Given the description of an element on the screen output the (x, y) to click on. 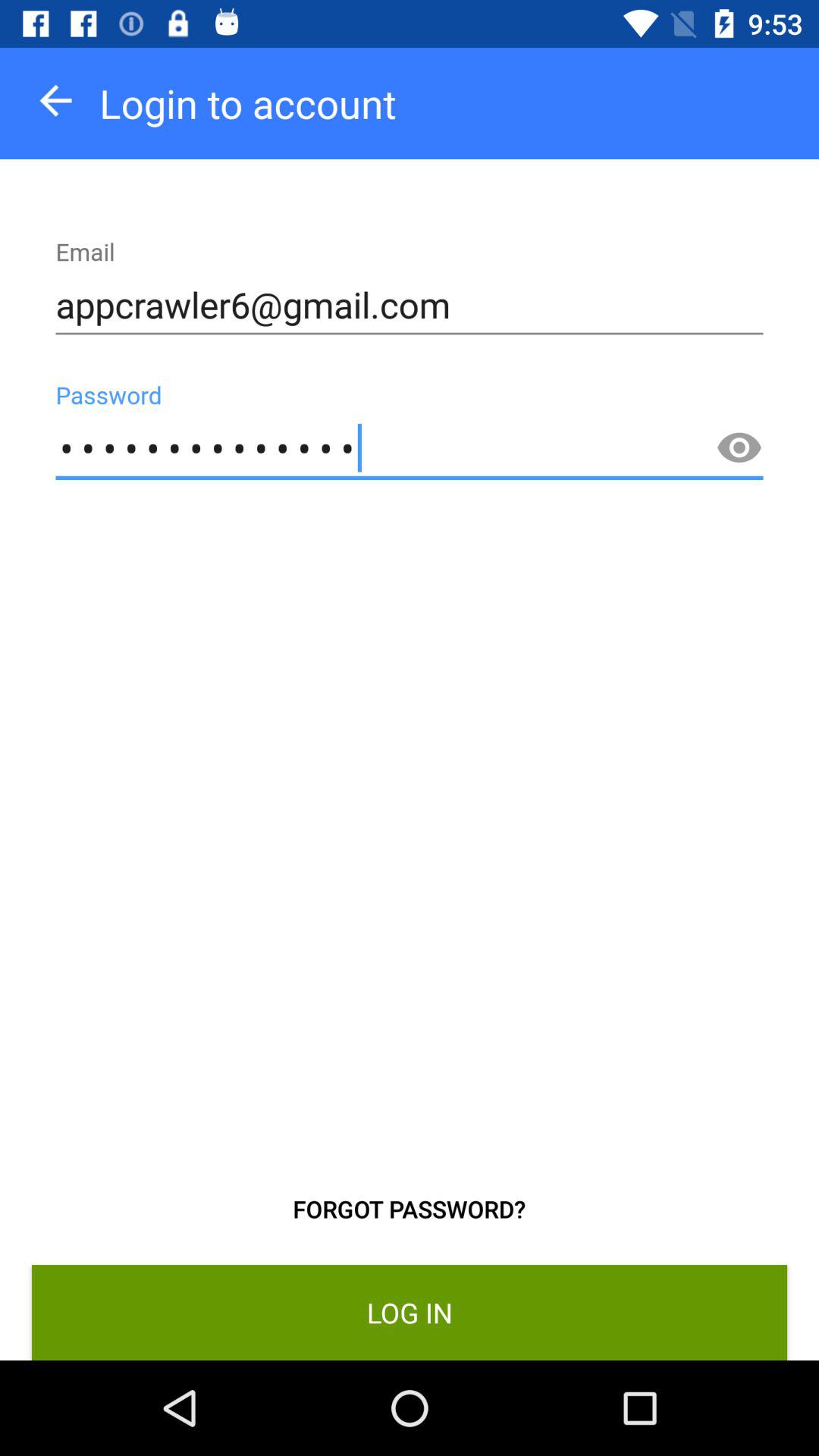
press item below forgot password? (409, 1312)
